Given the description of an element on the screen output the (x, y) to click on. 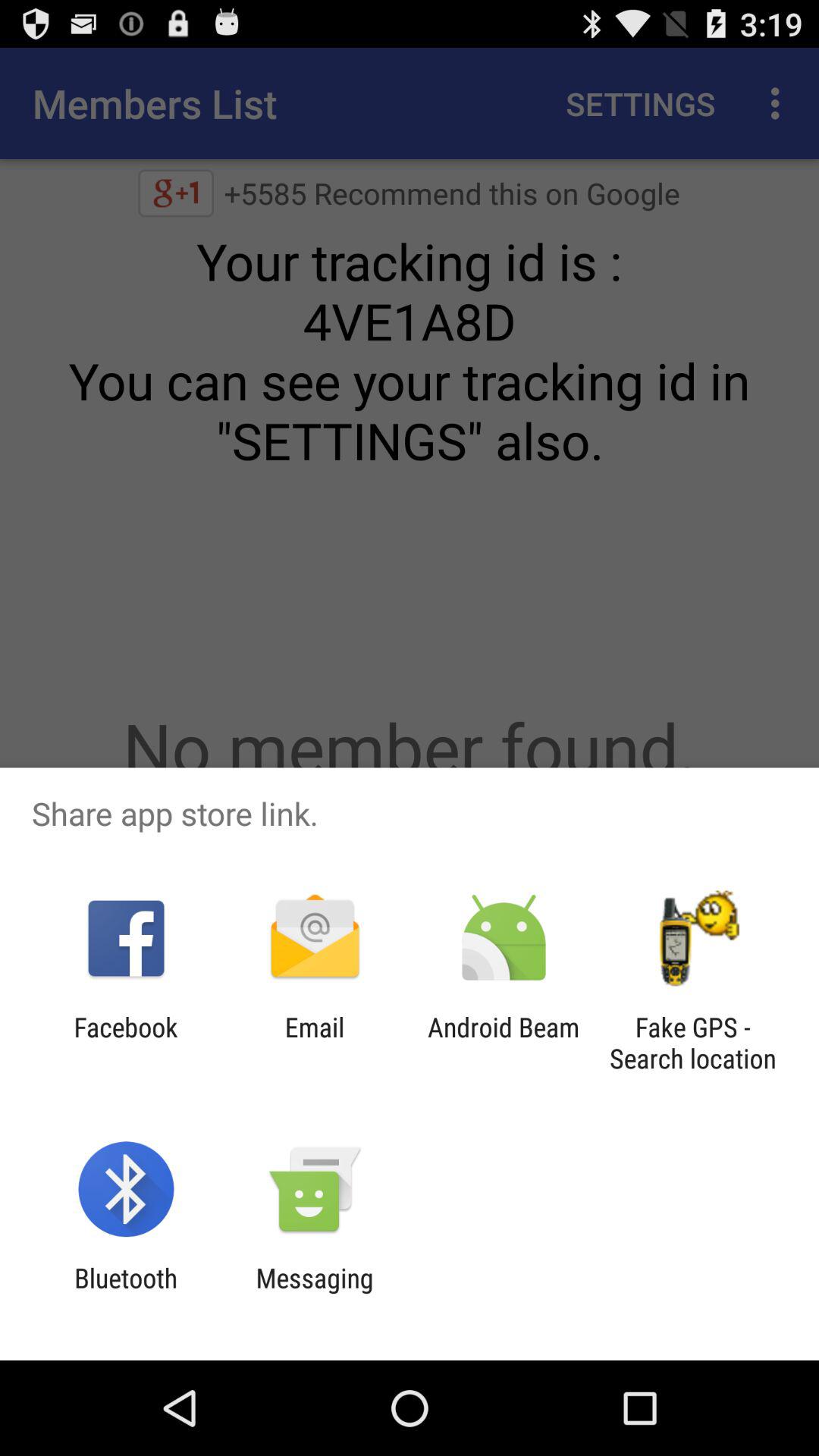
flip until fake gps search app (692, 1042)
